Given the description of an element on the screen output the (x, y) to click on. 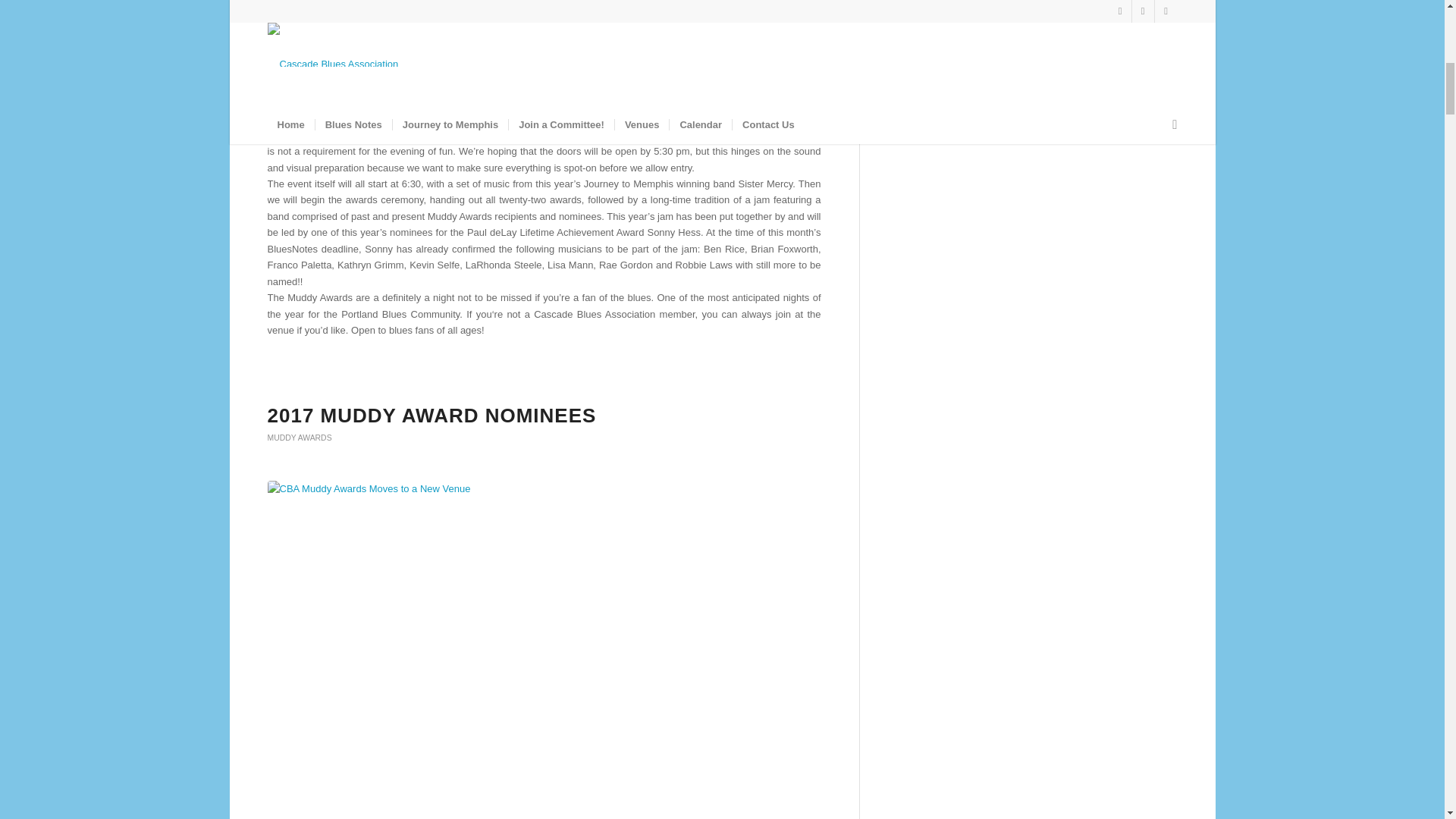
MUDDY AWARDS (298, 438)
Permanent Link: 2017 Muddy Award Nominees (430, 415)
2017 MUDDY AWARD NOMINEES (430, 415)
